Given the description of an element on the screen output the (x, y) to click on. 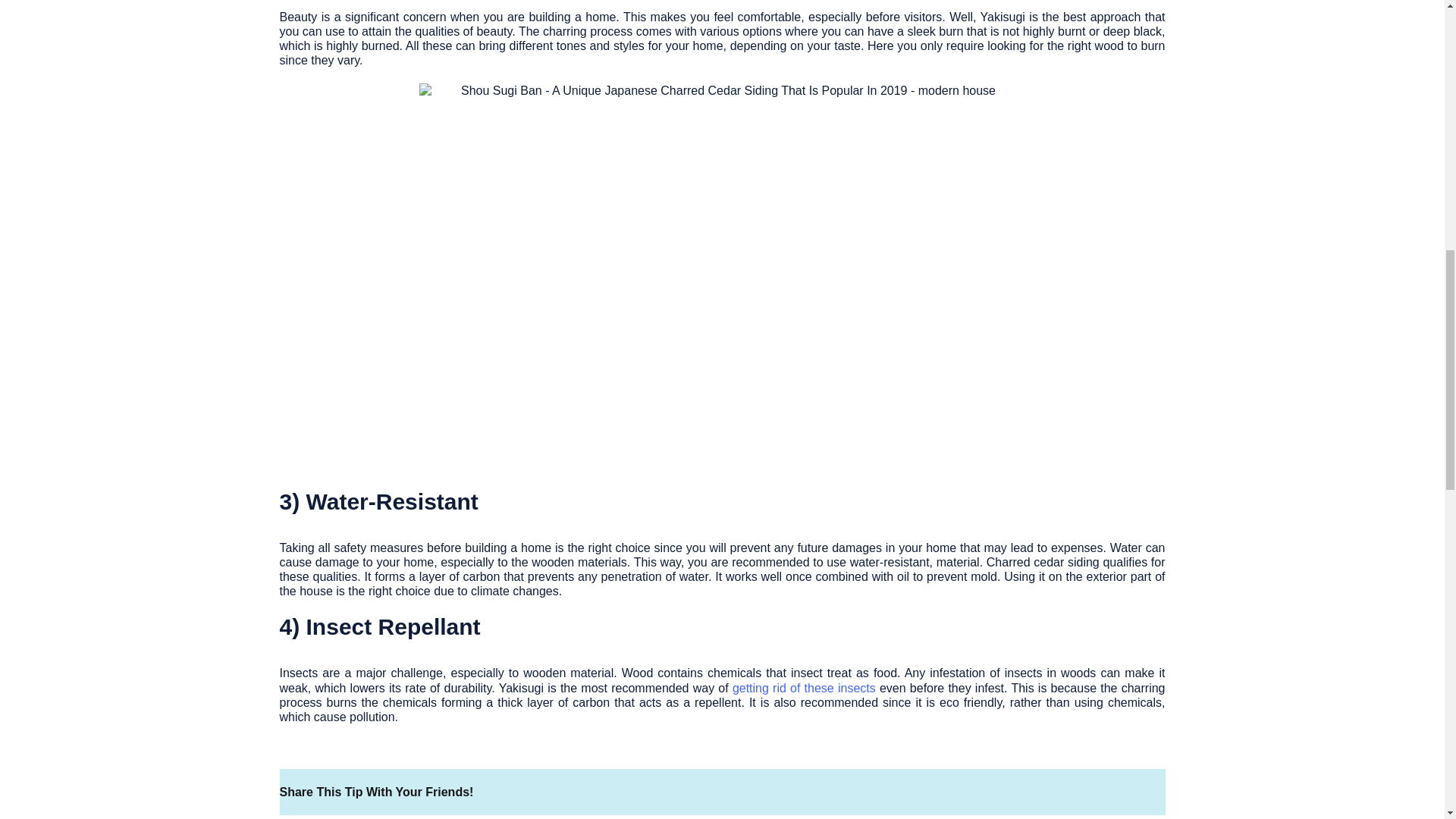
getting rid of these insects (804, 687)
